Given the description of an element on the screen output the (x, y) to click on. 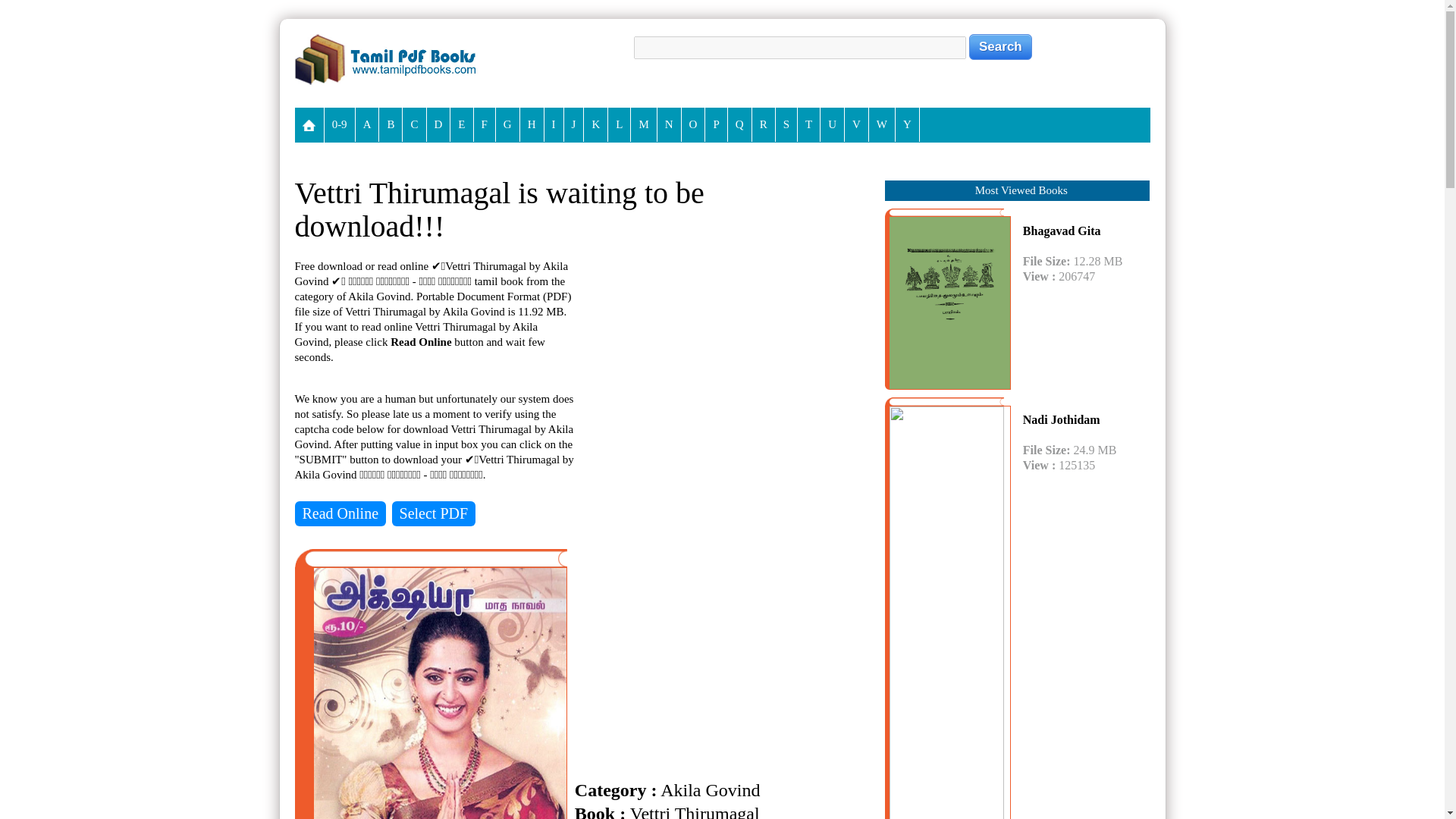
Read Online (339, 513)
Search (1000, 46)
Search (1000, 46)
Select PDF (433, 513)
0-9 (339, 124)
